Given the description of an element on the screen output the (x, y) to click on. 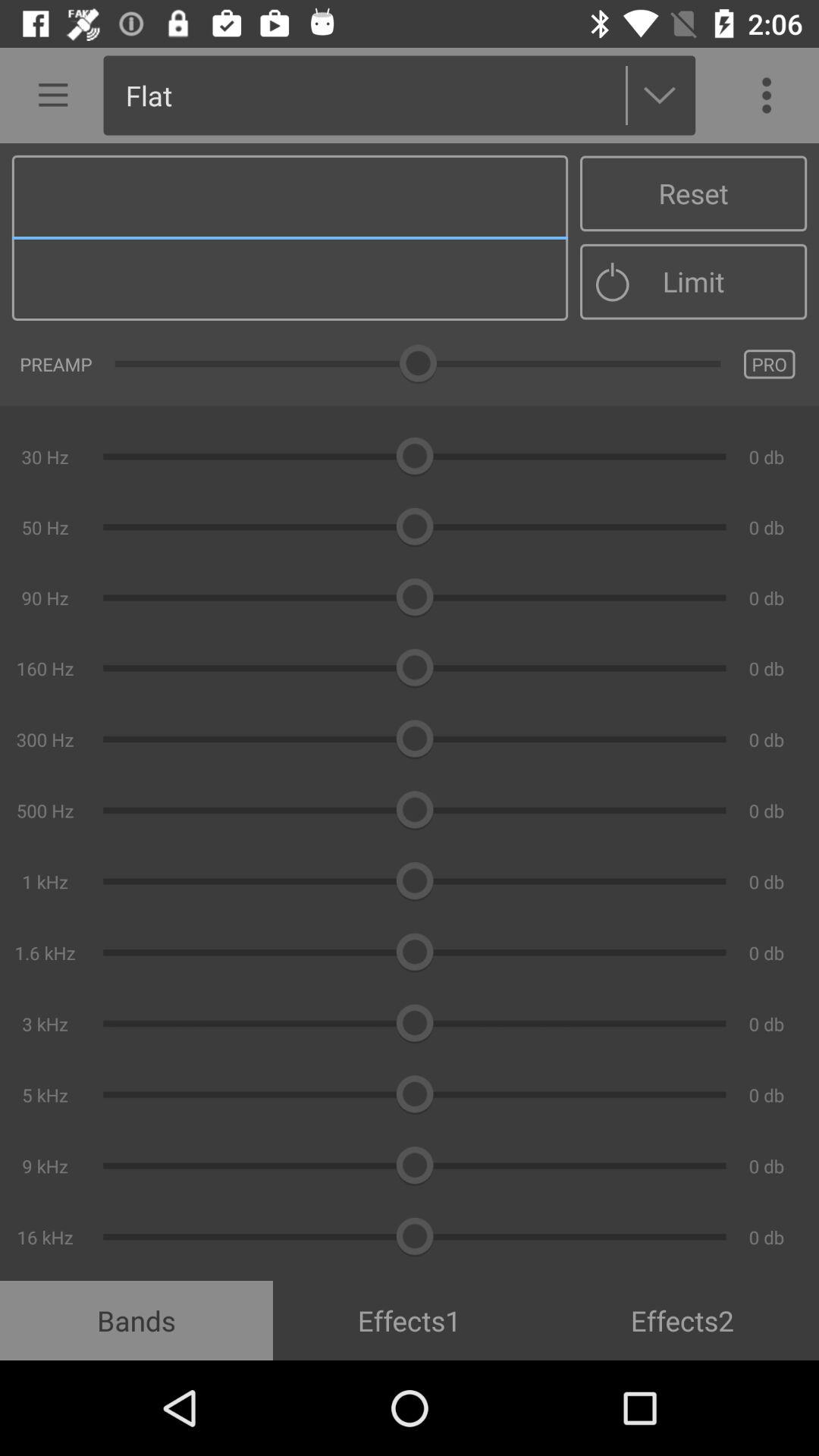
click icon next to flat (47, 95)
